Given the description of an element on the screen output the (x, y) to click on. 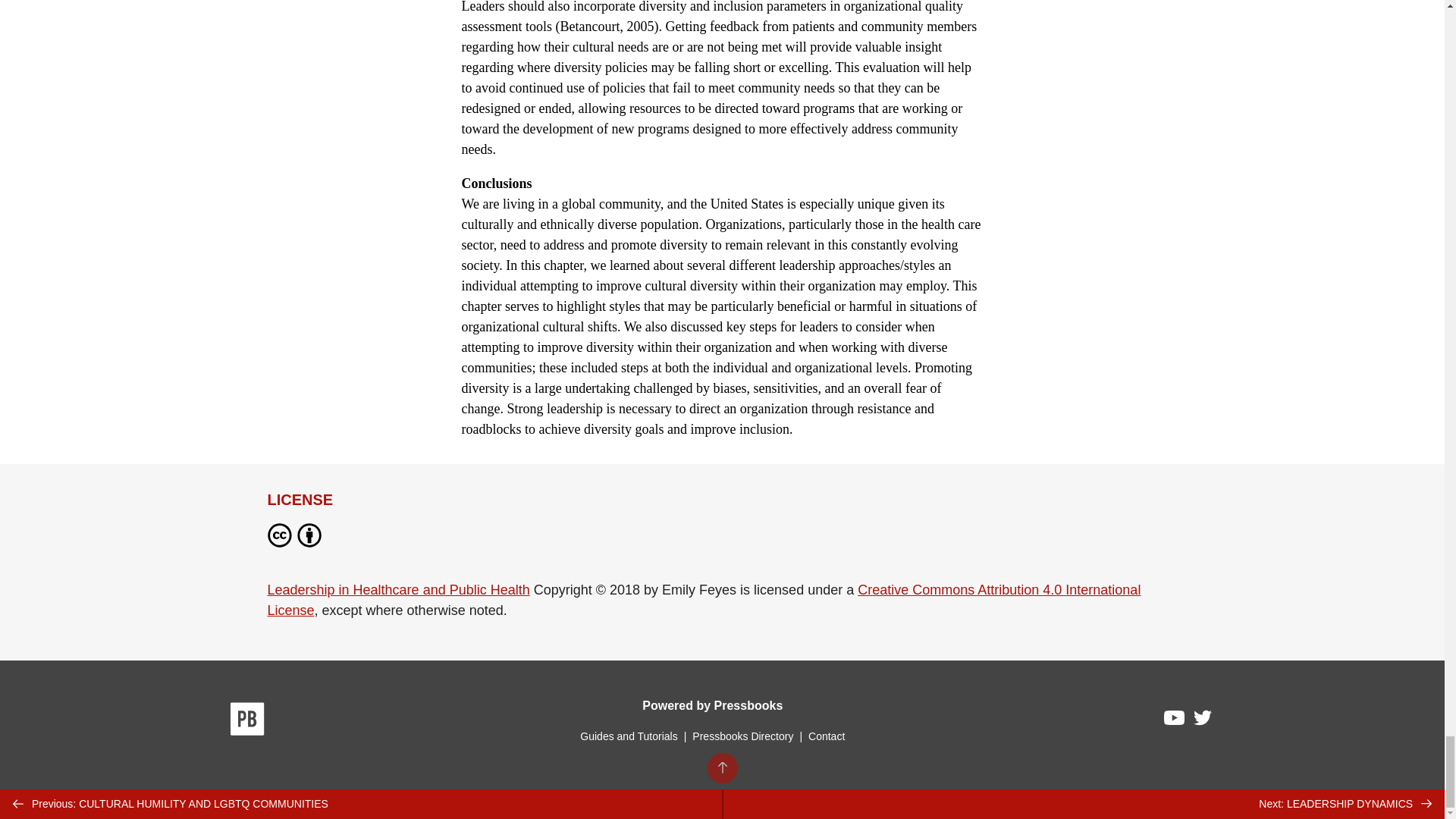
Creative Commons Attribution 4.0 International License (703, 600)
Powered by Pressbooks (712, 705)
Guides and Tutorials (627, 736)
Pressbooks Directory (742, 736)
Contact (826, 736)
Pressbooks on YouTube (1174, 721)
Leadership in Healthcare and Public Health (397, 589)
